Given the description of an element on the screen output the (x, y) to click on. 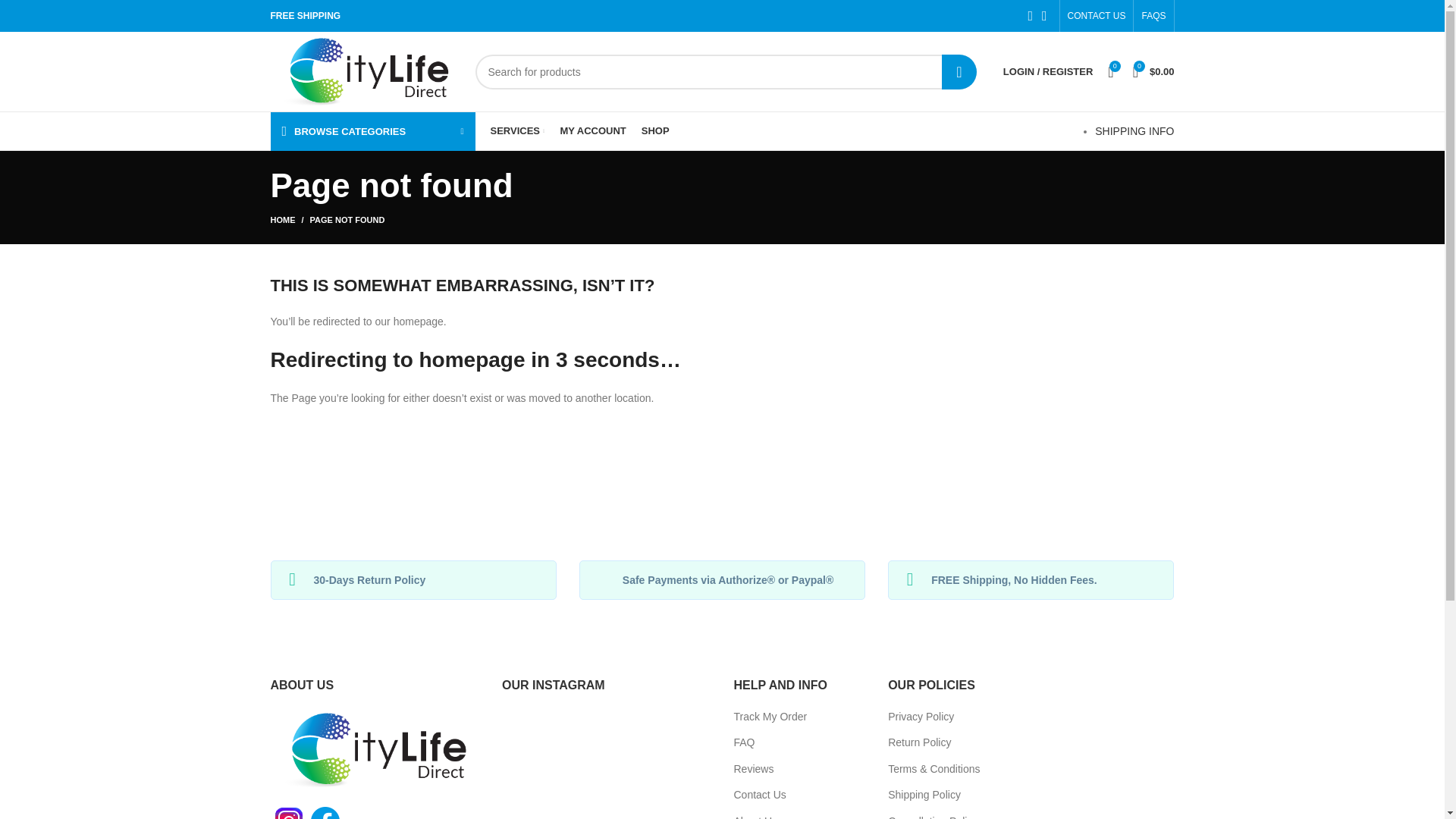
CONTACT US (1096, 15)
SEARCH (959, 71)
My account (1047, 71)
Shopping cart (1153, 71)
Search for products (724, 71)
